Given the description of an element on the screen output the (x, y) to click on. 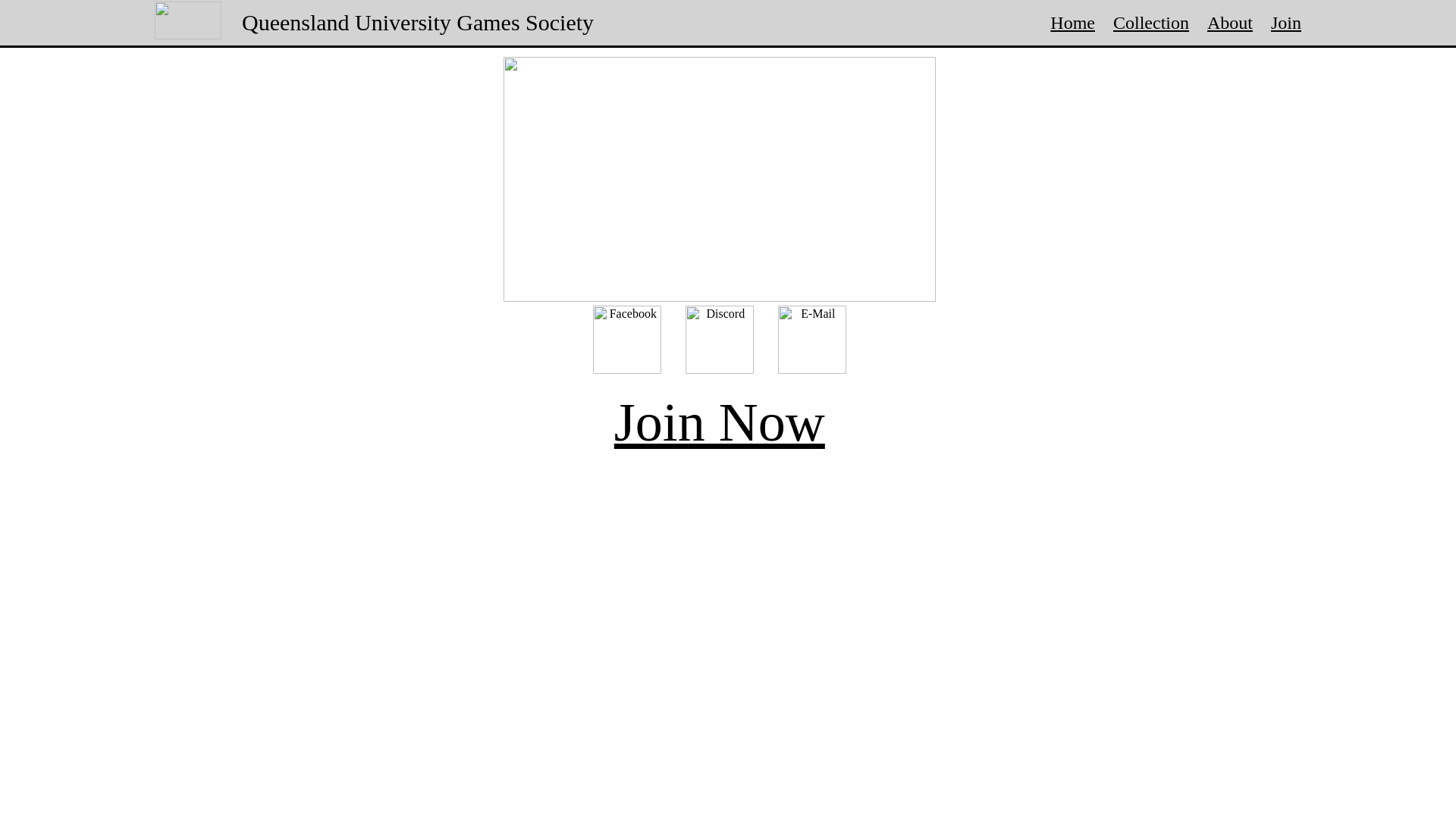
Join Element type: text (1285, 21)
Facebook Element type: hover (627, 339)
Discord Element type: hover (719, 339)
E-Mail Element type: hover (812, 339)
Join Now Element type: text (719, 422)
Home Element type: text (1072, 21)
About Element type: text (1229, 21)
Collection Element type: text (1151, 21)
